Given the description of an element on the screen output the (x, y) to click on. 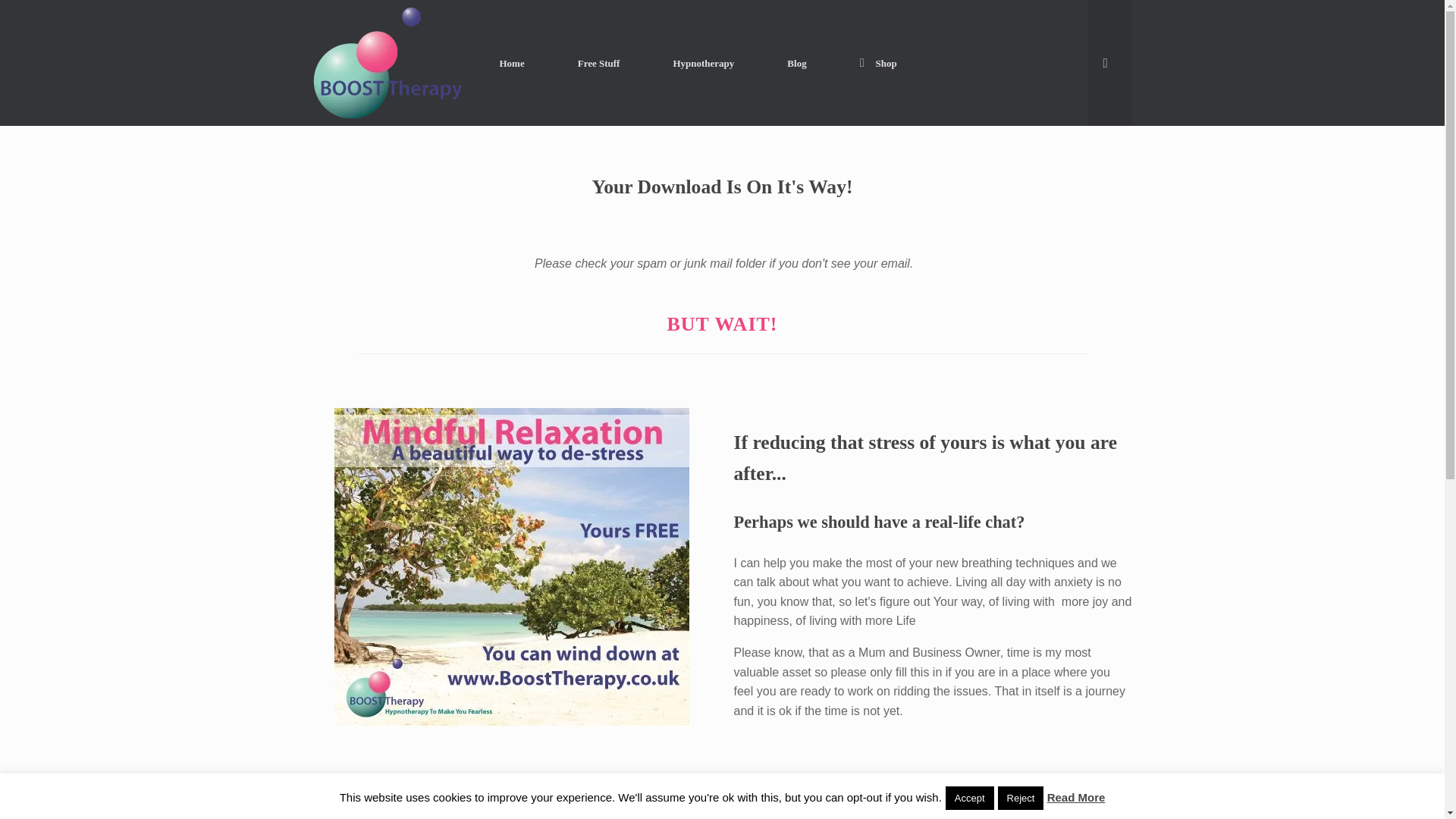
Anxiety hypnosis (387, 63)
Hypnotherapy (703, 62)
Home (512, 62)
Free Stuff (598, 62)
Accept (969, 797)
Shop (877, 62)
Reject (1020, 797)
Read More (1075, 797)
Blog (796, 62)
